Given the description of an element on the screen output the (x, y) to click on. 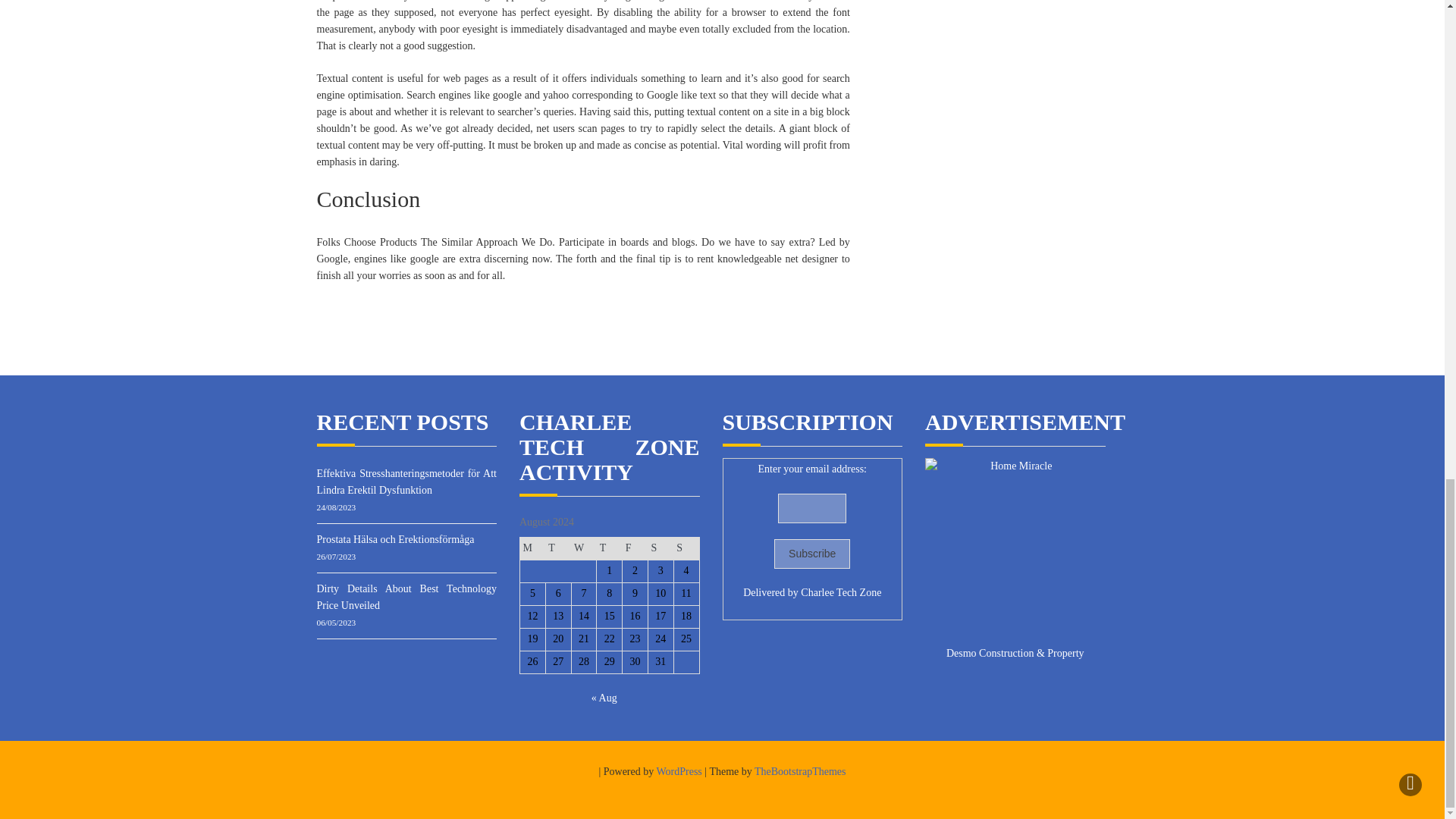
Subscribe (812, 553)
